Given the description of an element on the screen output the (x, y) to click on. 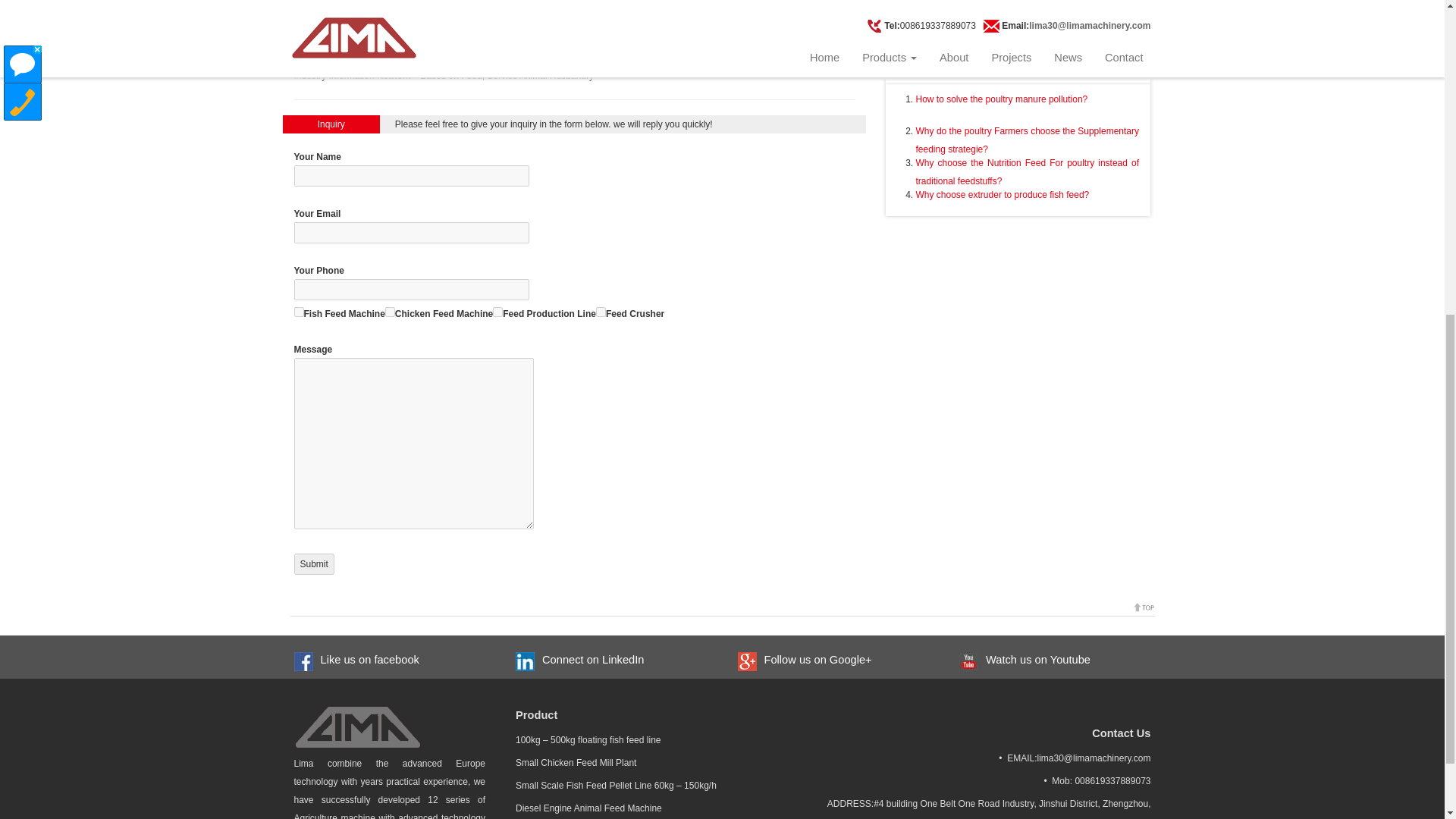
How to solve the poultry manure pollution? (1001, 99)
Feed Production Line (497, 311)
Fish Feed Machine (299, 311)
Submit (314, 563)
FAQ Shows (936, 64)
Like us on facebook (366, 659)
NEWS (921, 7)
Submit (314, 563)
